Given the description of an element on the screen output the (x, y) to click on. 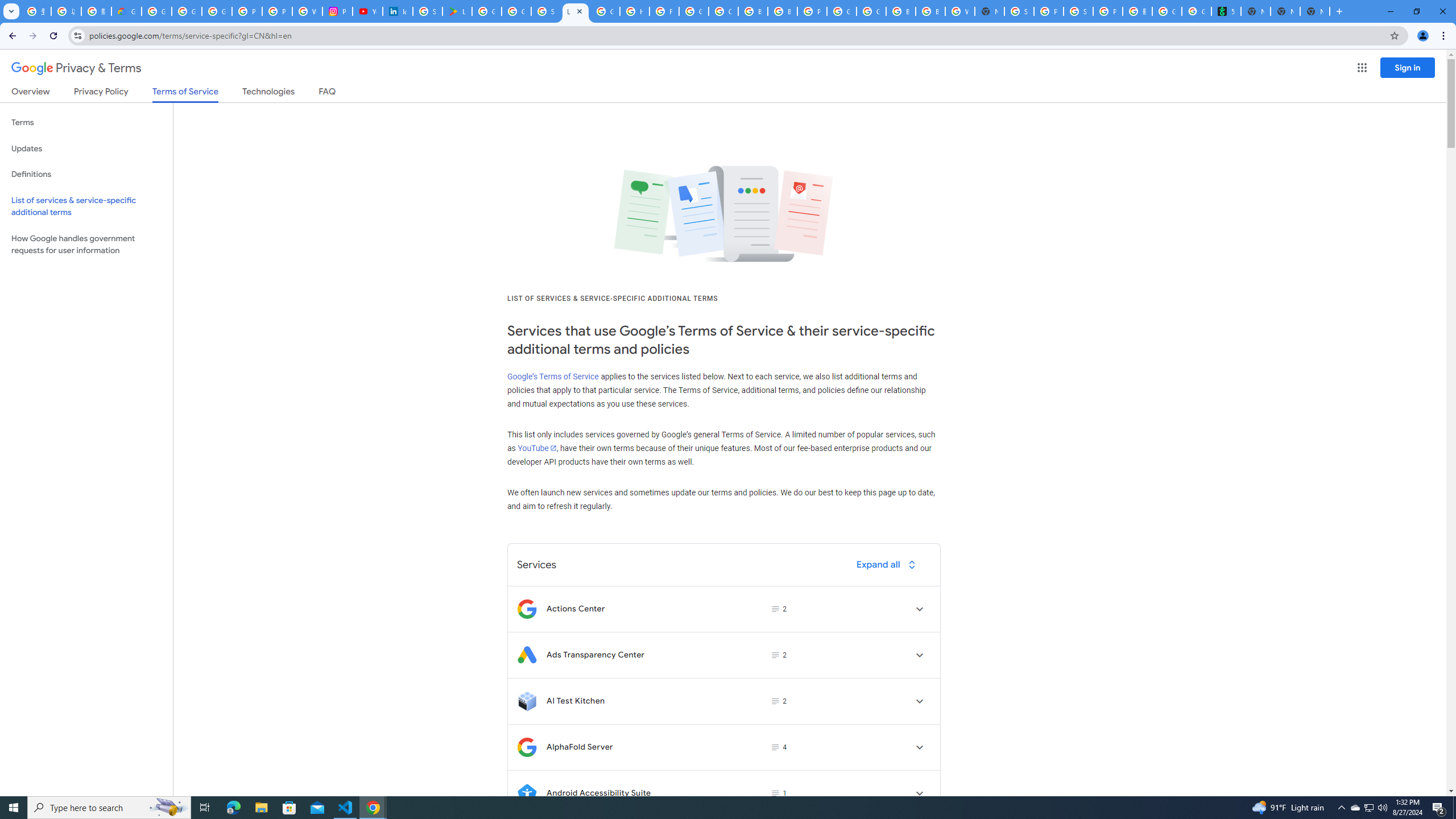
Expand all (888, 564)
View site information (77, 35)
FAQ (327, 93)
Back (10, 35)
Technologies (268, 93)
